Given the description of an element on the screen output the (x, y) to click on. 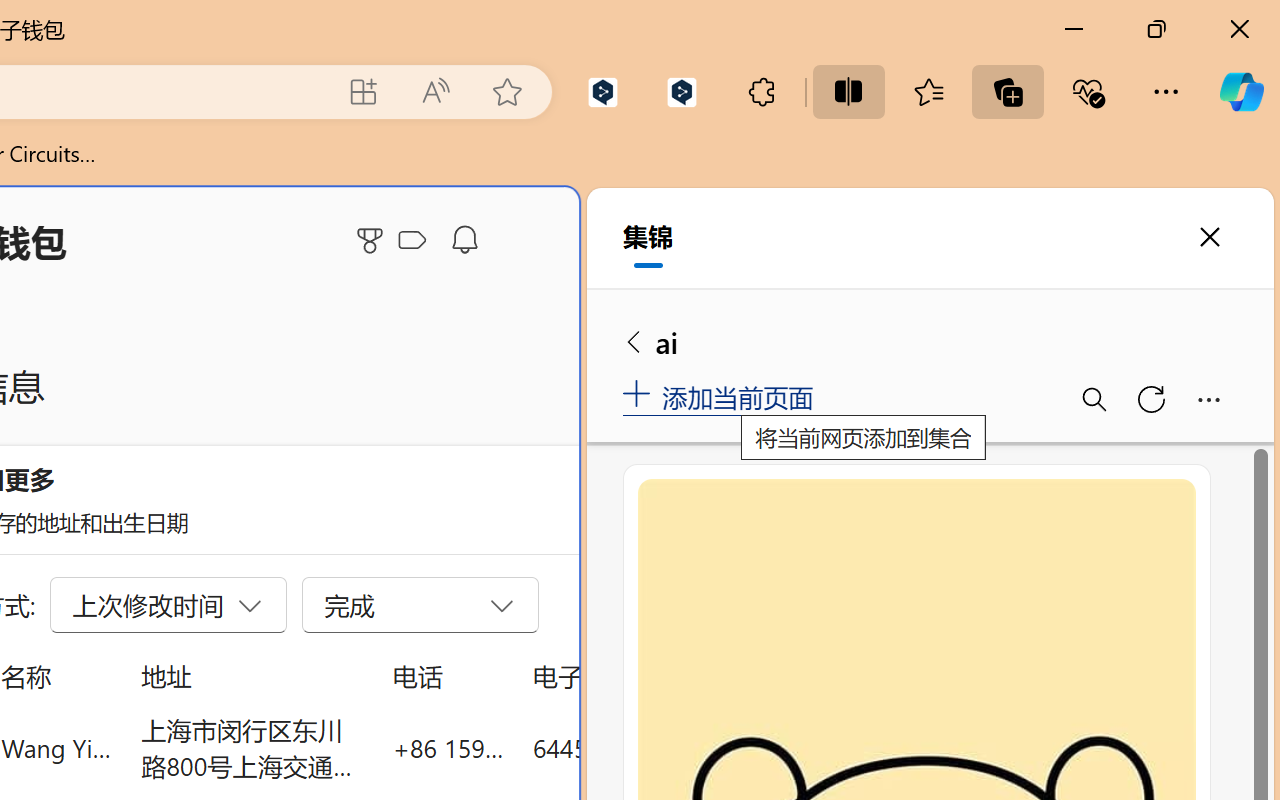
644553698@qq.com (644, 747)
Microsoft Cashback (415, 241)
+86 159 0032 4640 (447, 747)
